Given the description of an element on the screen output the (x, y) to click on. 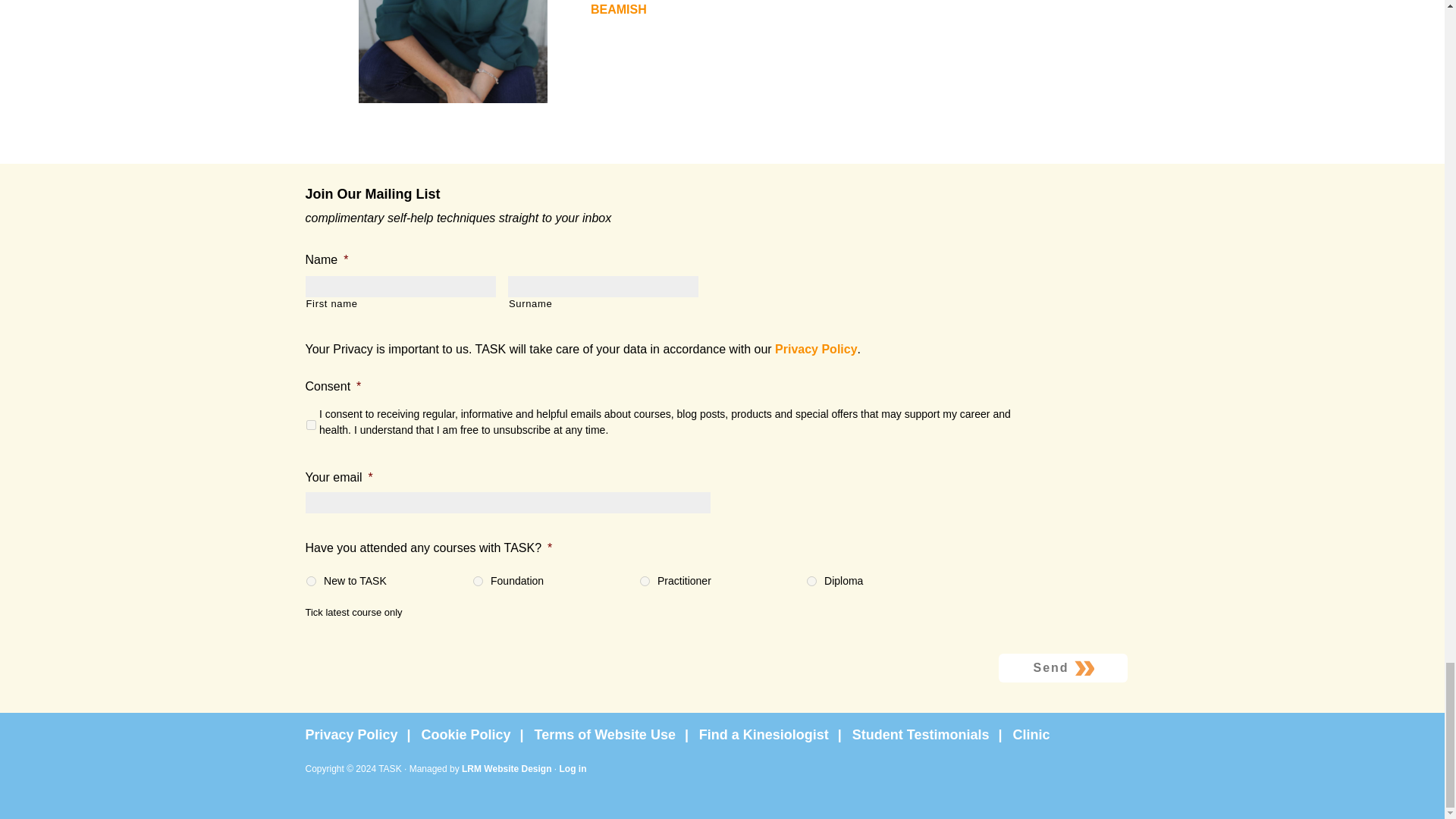
Clinic (1034, 738)
Cookie Policy (476, 738)
Privacy Policy (360, 738)
Foundation (478, 581)
LRM Website Design (506, 768)
Find a Kinesiologist (773, 738)
Log in (572, 768)
Terms of Website Use (614, 738)
Practitioner (644, 581)
ANTONIA BEAMISH (808, 7)
Student Testimonials (930, 738)
Send (1061, 667)
Diploma (811, 581)
Send (1061, 667)
